Given the description of an element on the screen output the (x, y) to click on. 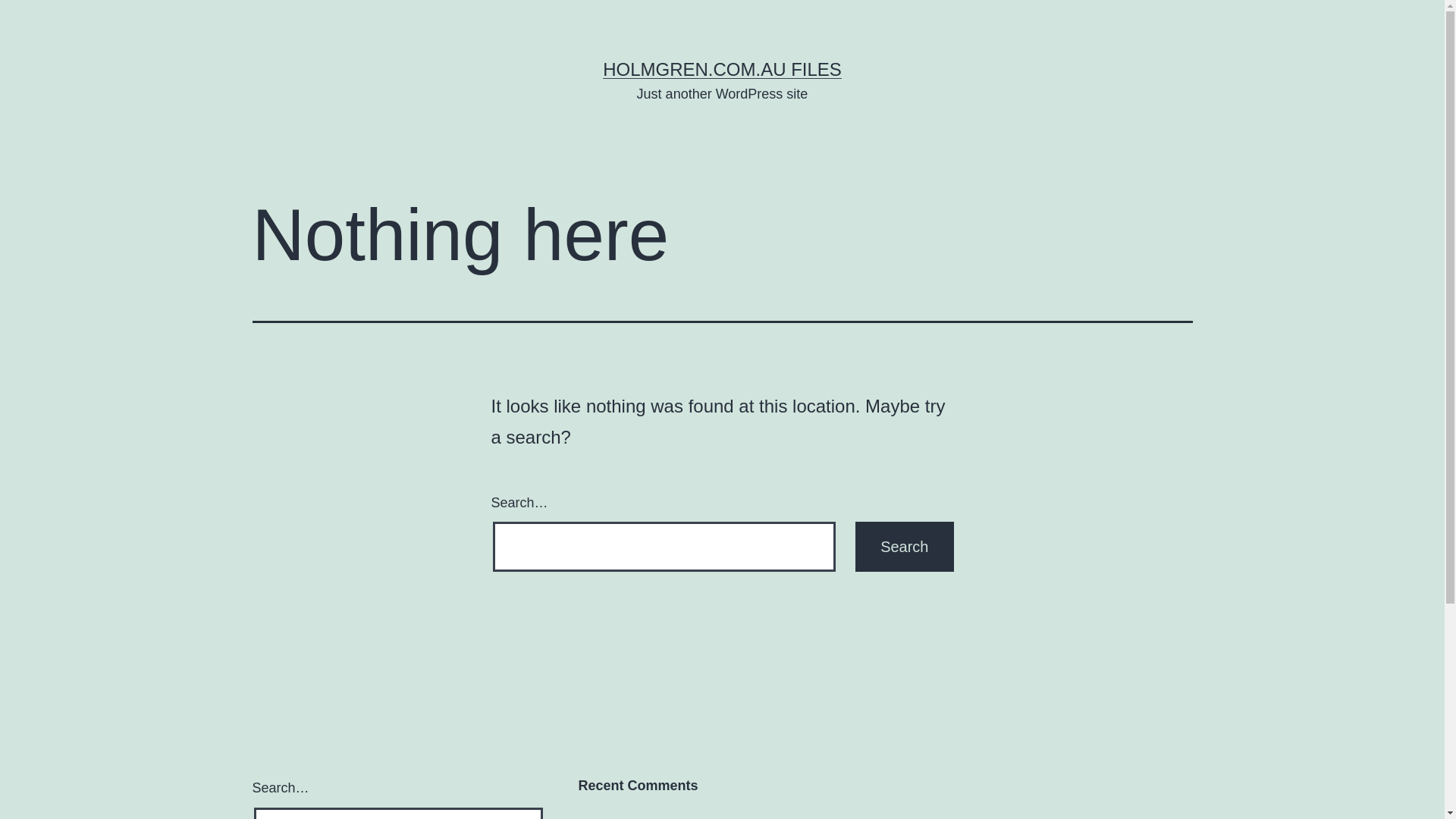
HOLMGREN.COM.AU FILES Element type: text (721, 69)
Search Element type: text (904, 546)
